Given the description of an element on the screen output the (x, y) to click on. 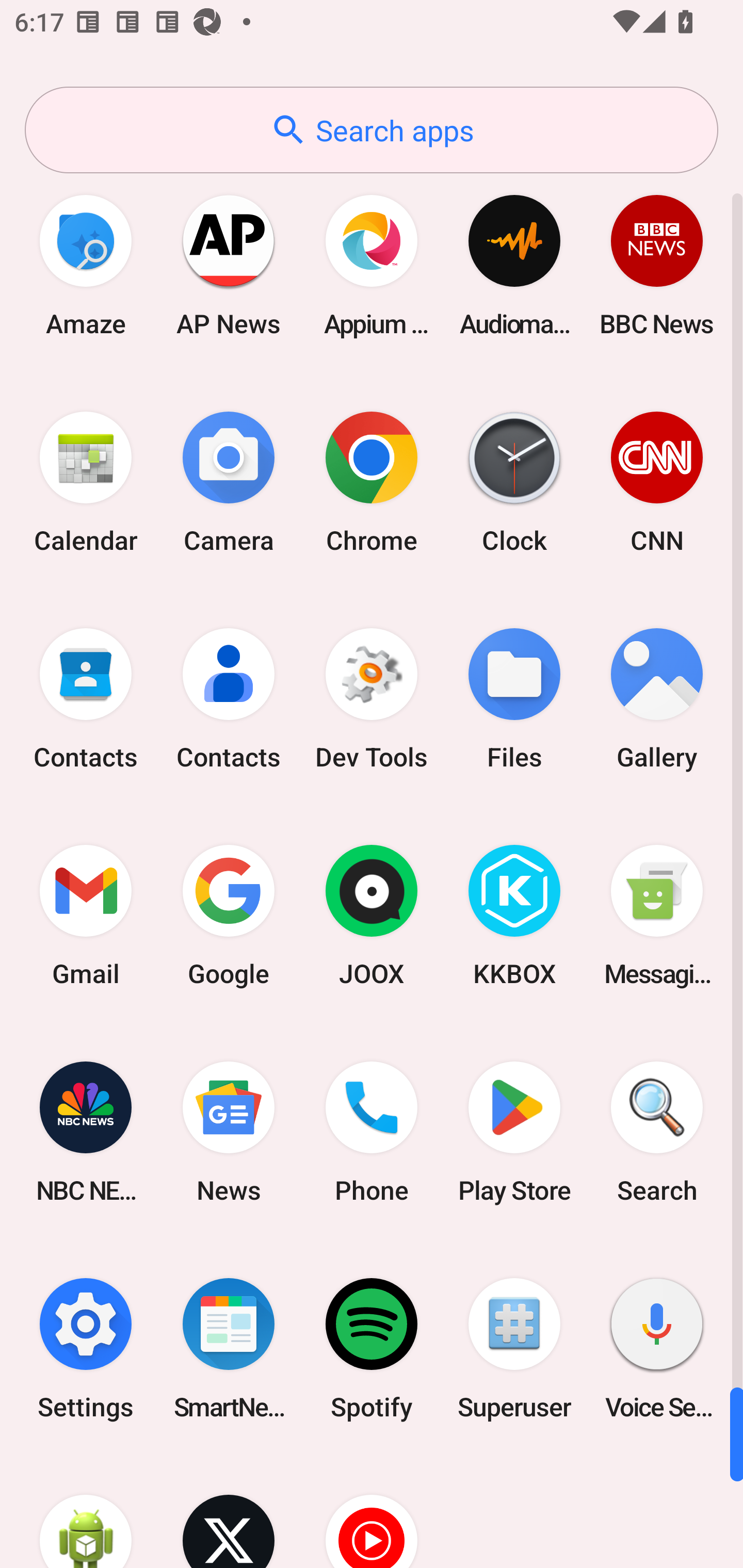
  Search apps (371, 130)
Amaze (85, 264)
AP News (228, 264)
Appium Settings (371, 264)
Audio­mack (514, 264)
BBC News (656, 264)
Calendar (85, 482)
Camera (228, 482)
Chrome (371, 482)
Clock (514, 482)
CNN (656, 482)
Contacts (85, 699)
Contacts (228, 699)
Dev Tools (371, 699)
Files (514, 699)
Gallery (656, 699)
Gmail (85, 915)
Google (228, 915)
JOOX (371, 915)
KKBOX (514, 915)
Messaging (656, 915)
NBC NEWS (85, 1131)
News (228, 1131)
Phone (371, 1131)
Play Store (514, 1131)
Search (656, 1131)
Settings (85, 1348)
SmartNews (228, 1348)
Spotify (371, 1348)
Superuser (514, 1348)
Voice Search (656, 1348)
WebView Browser Tester (85, 1512)
X (228, 1512)
YT Music (371, 1512)
